Given the description of an element on the screen output the (x, y) to click on. 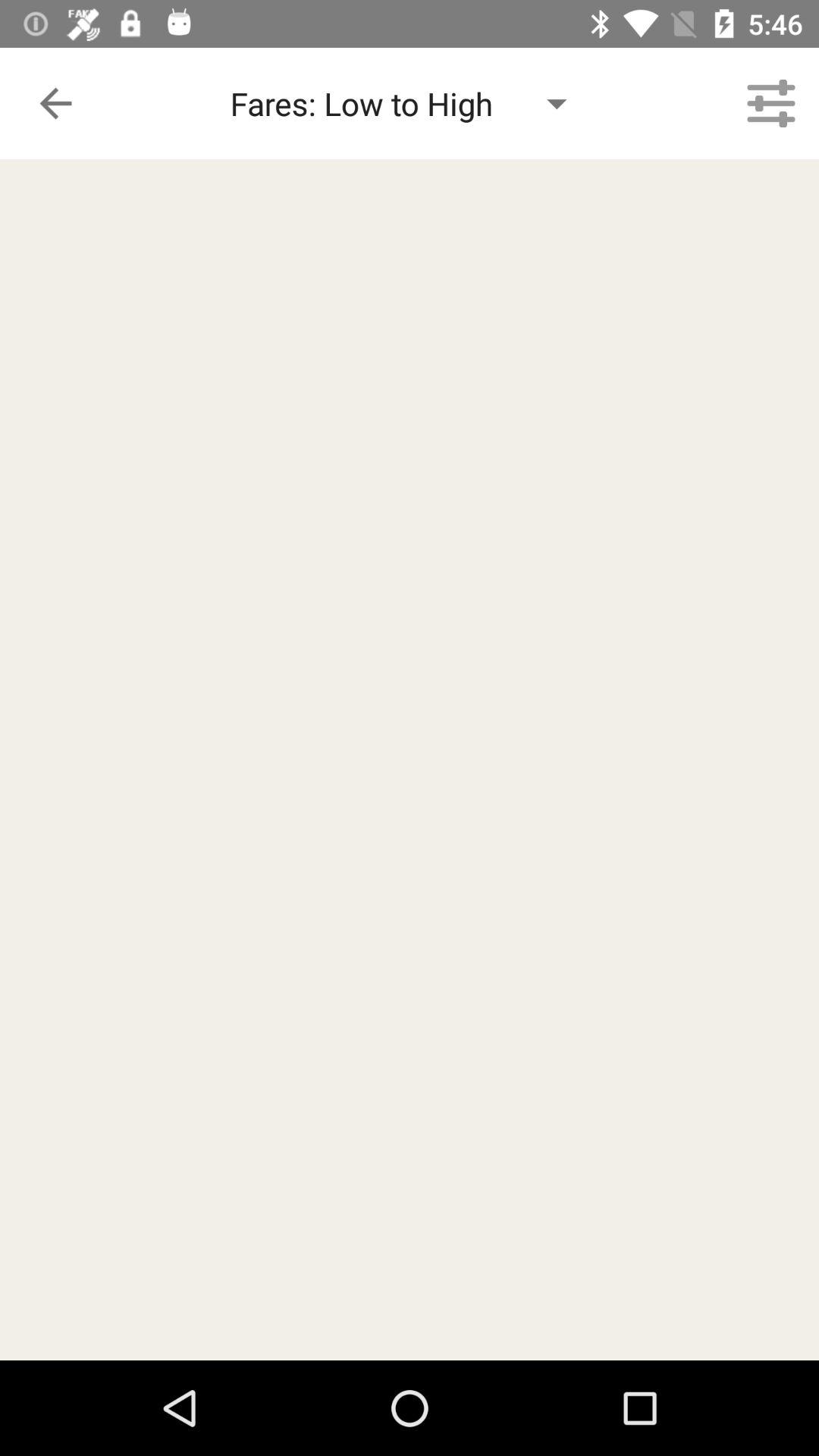
turn on item next to fares low to icon (771, 103)
